Given the description of an element on the screen output the (x, y) to click on. 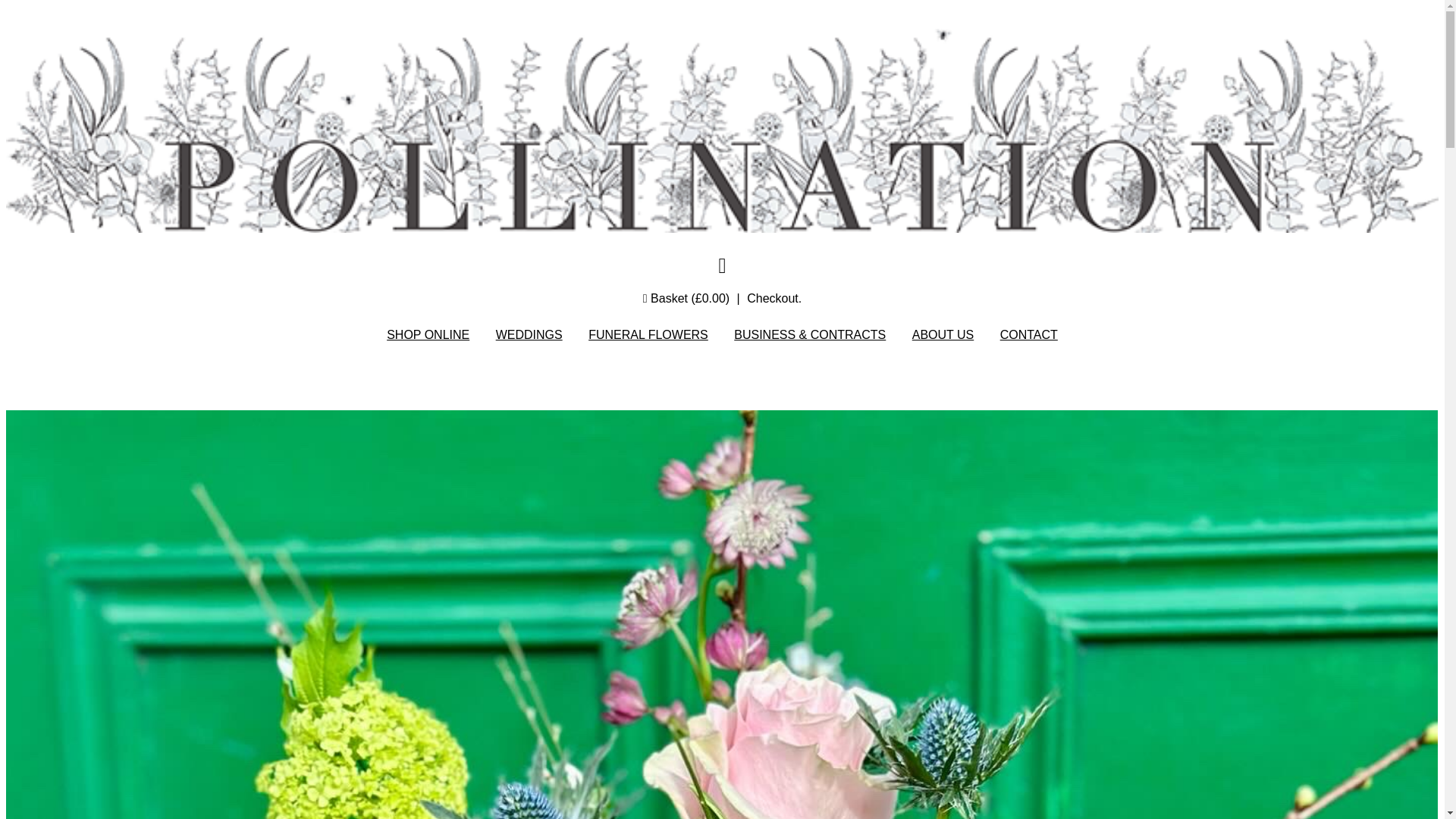
Checkout. (774, 297)
FUNERAL FLOWERS (647, 335)
SHOP ONLINE (427, 335)
WEDDINGS (529, 335)
ABOUT US (943, 335)
CONTACT (1029, 335)
